Given the description of an element on the screen output the (x, y) to click on. 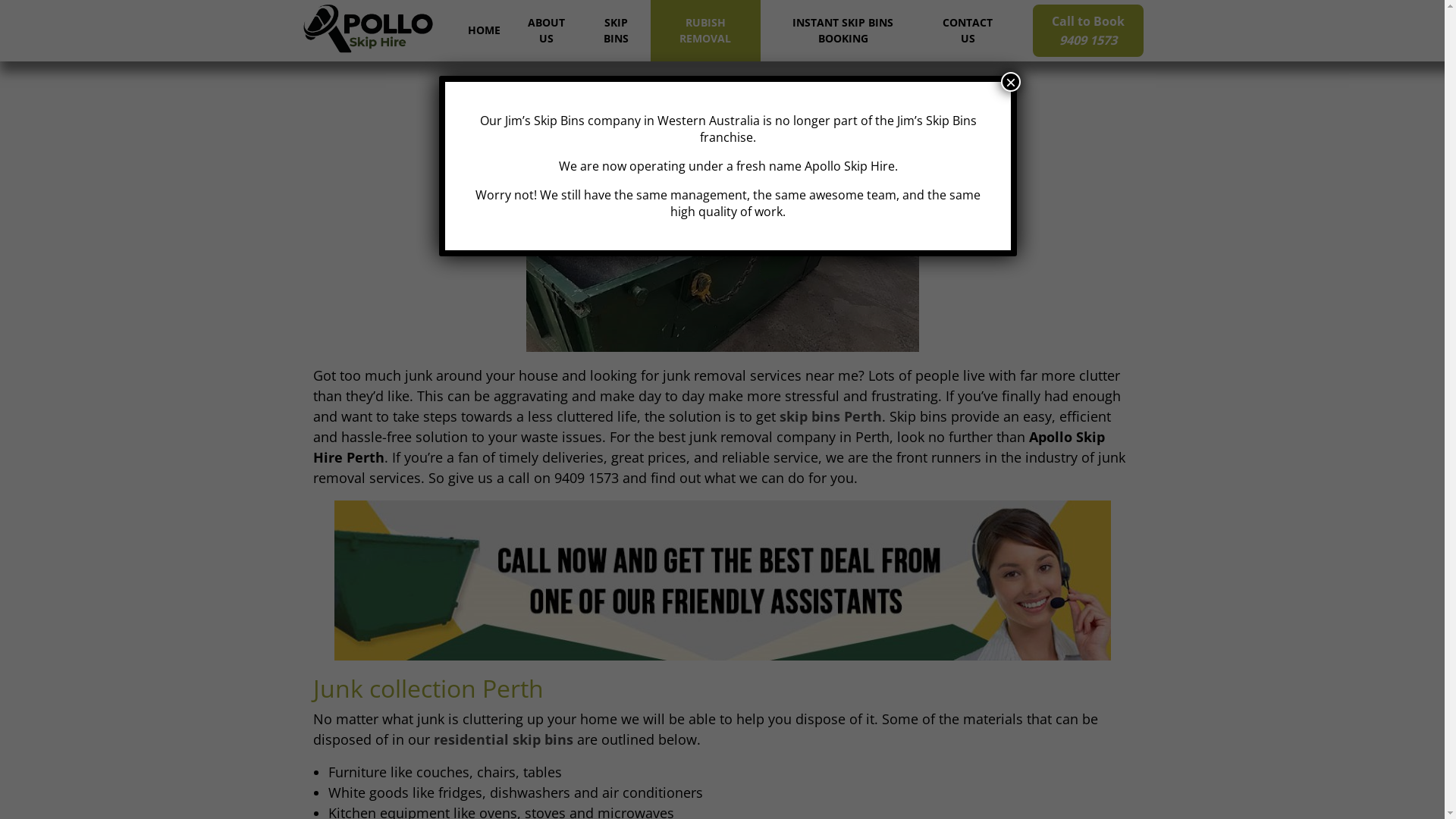
Call to Book
9409 1573 Element type: text (1087, 30)
skip bins Perth Element type: text (830, 416)
RUBISH REMOVAL Element type: text (705, 30)
ABOUT US Element type: text (545, 30)
INSTANT SKIP BINS BOOKING Element type: text (843, 30)
residential skip bins Element type: text (503, 739)
HOME Element type: text (483, 29)
CONTACT US Element type: text (967, 30)
SKIP BINS Element type: text (616, 30)
